Given the description of an element on the screen output the (x, y) to click on. 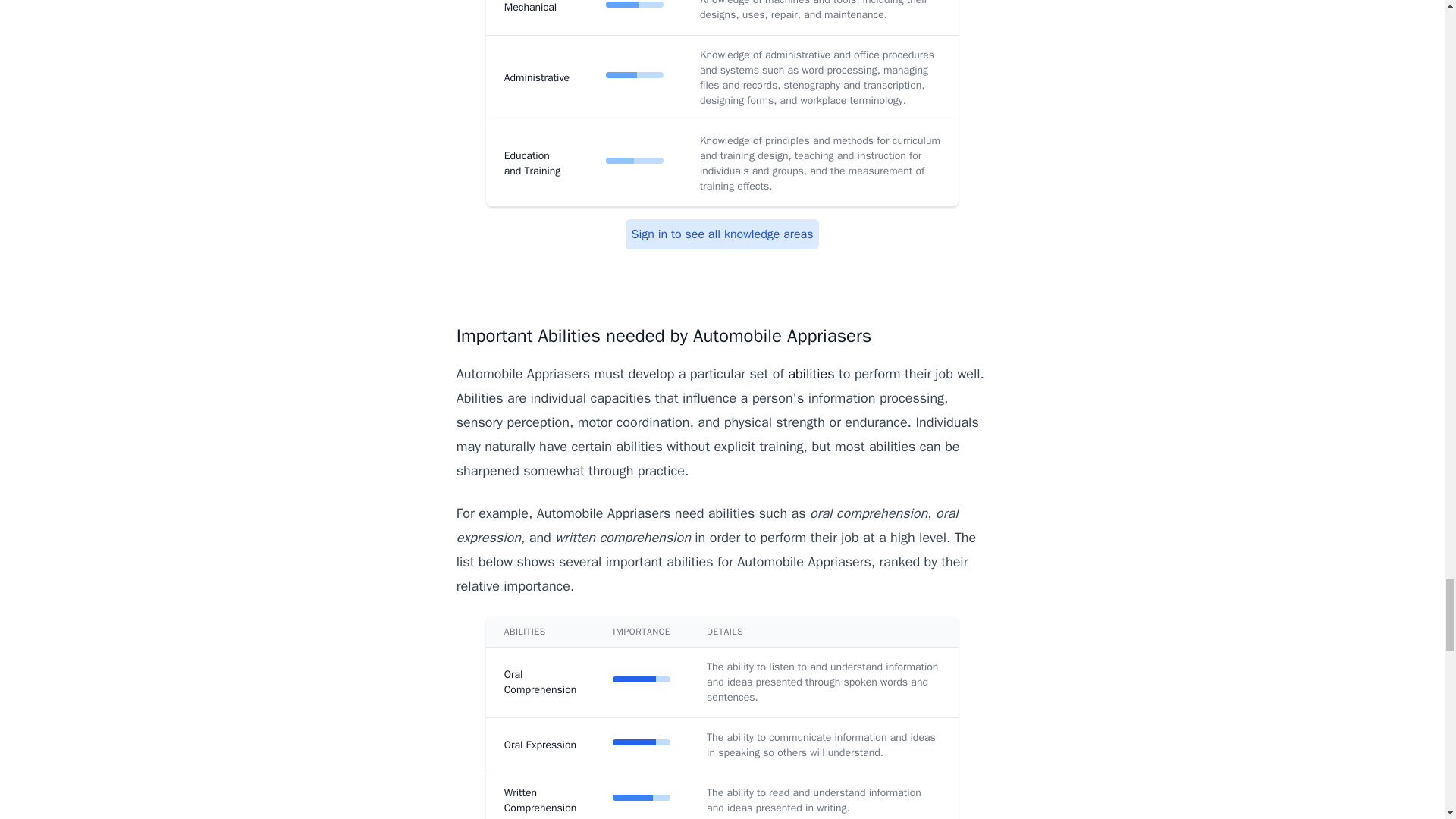
Sign in to see all knowledge areas (722, 234)
